Given the description of an element on the screen output the (x, y) to click on. 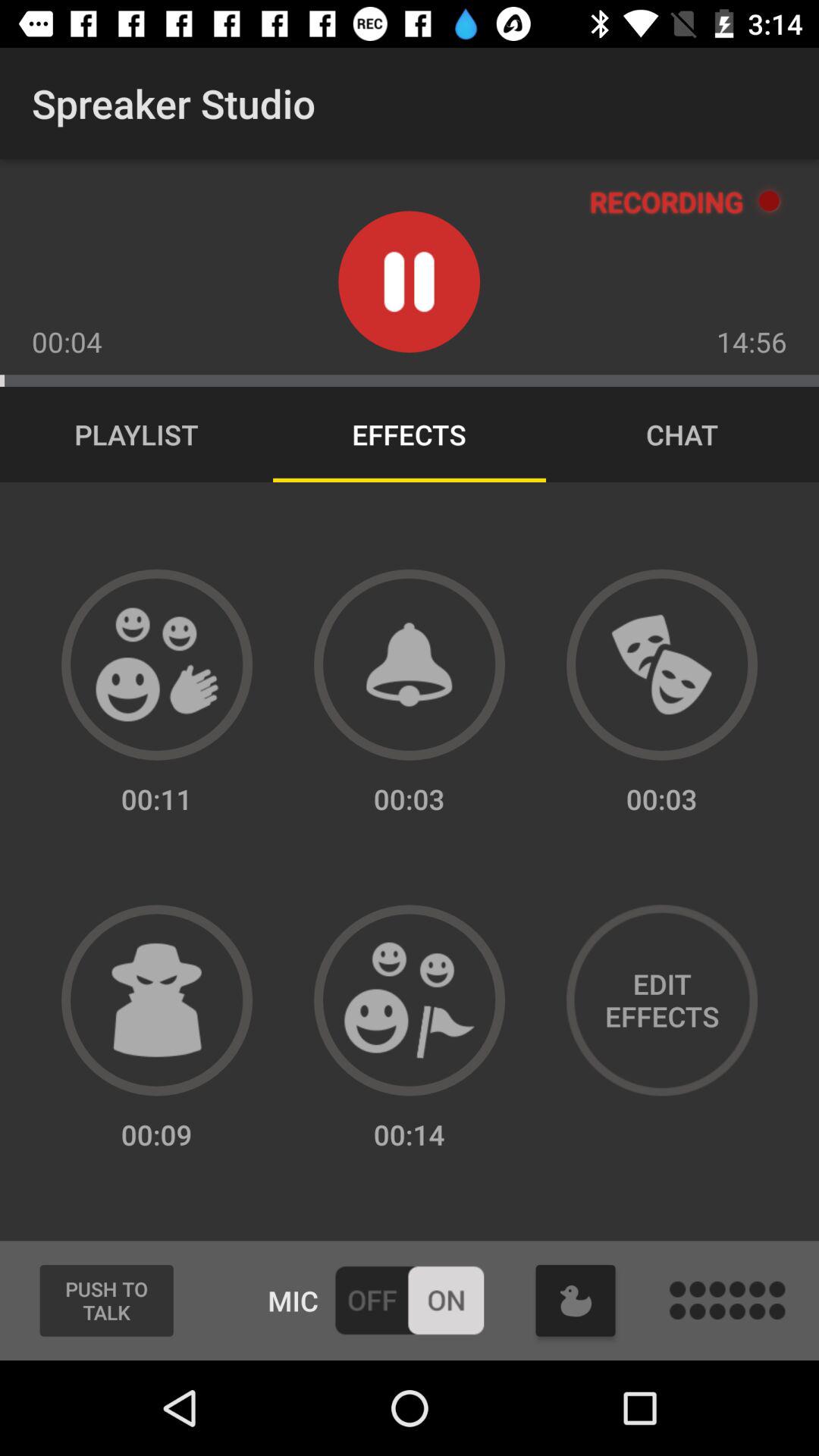
okat happy adventure effects (409, 999)
